Given the description of an element on the screen output the (x, y) to click on. 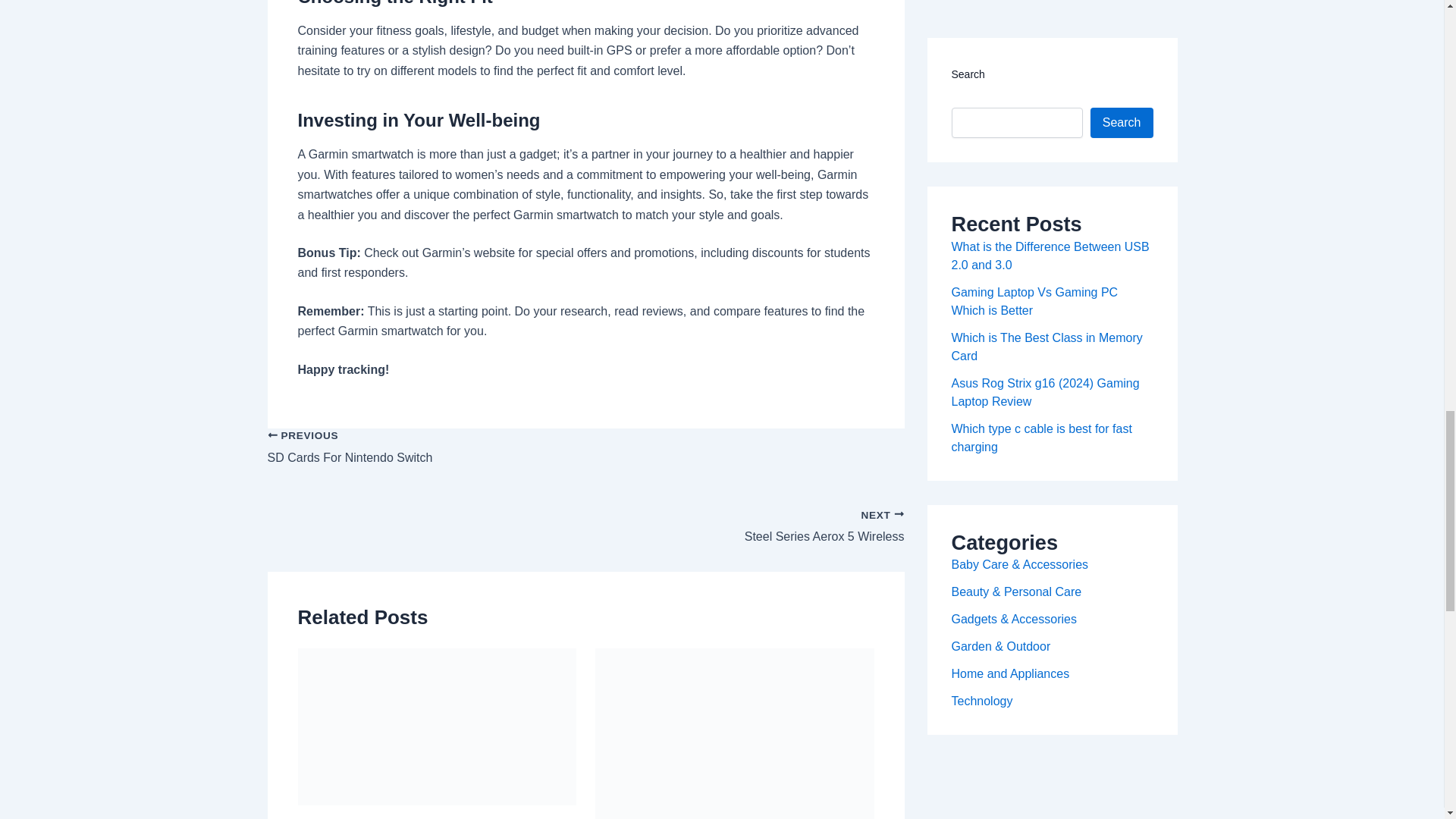
Steel Series Aerox 5 Wireless (585, 518)
SD Cards For Nintendo Switch (585, 456)
